Given the description of an element on the screen output the (x, y) to click on. 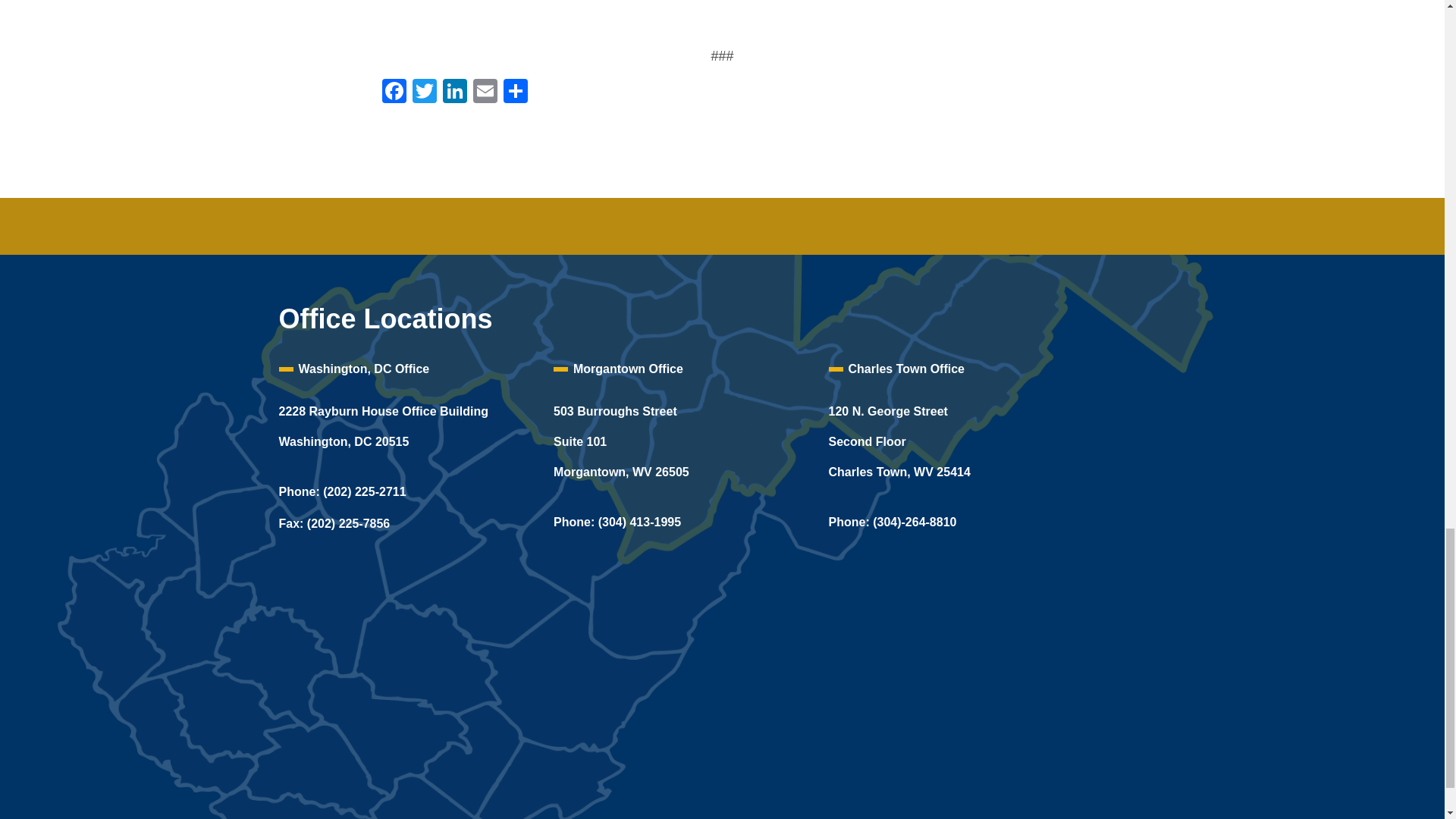
Facebook (393, 92)
Twitter (424, 92)
LinkedIn (454, 92)
Email (485, 92)
